Given the description of an element on the screen output the (x, y) to click on. 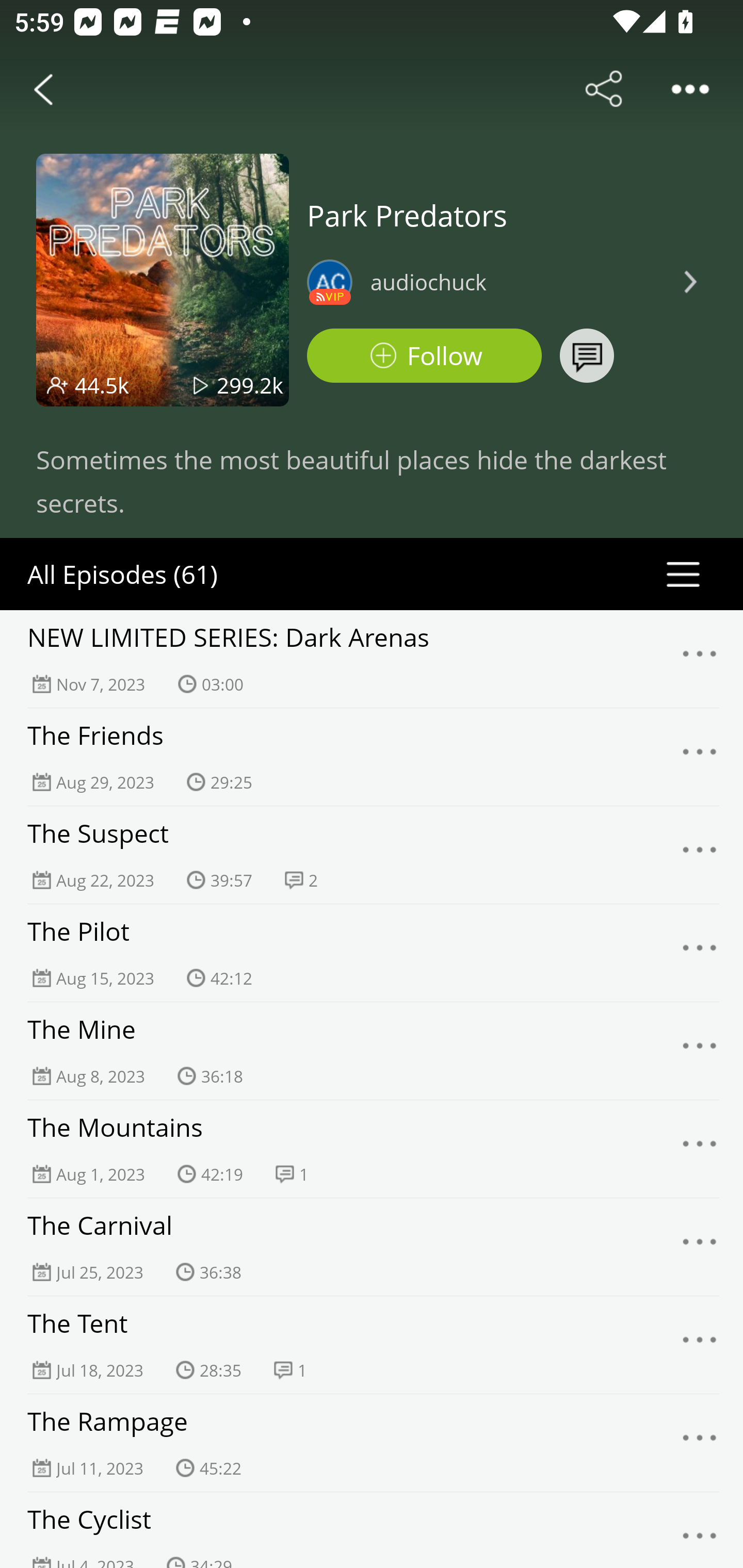
Back (43, 88)
Podbean Follow (423, 355)
44.5k (102, 384)
Menu (699, 659)
The Friends Aug 29, 2023 29:25 Menu (371, 756)
Menu (699, 757)
The Suspect Aug 22, 2023 39:57 2 Menu (371, 854)
Menu (699, 855)
The Pilot Aug 15, 2023 42:12 Menu (371, 952)
Menu (699, 953)
The Mine Aug 8, 2023 36:18 Menu (371, 1050)
Menu (699, 1051)
The Mountains Aug 1, 2023 42:19 1 Menu (371, 1148)
Menu (699, 1149)
The Carnival Jul 25, 2023 36:38 Menu (371, 1246)
Menu (699, 1247)
The Tent Jul 18, 2023 28:35 1 Menu (371, 1344)
Menu (699, 1345)
The Rampage Jul 11, 2023 45:22 Menu (371, 1442)
Menu (699, 1443)
The Cyclist Jul 4, 2023 34:29 Menu (371, 1530)
Menu (699, 1532)
